Given the description of an element on the screen output the (x, y) to click on. 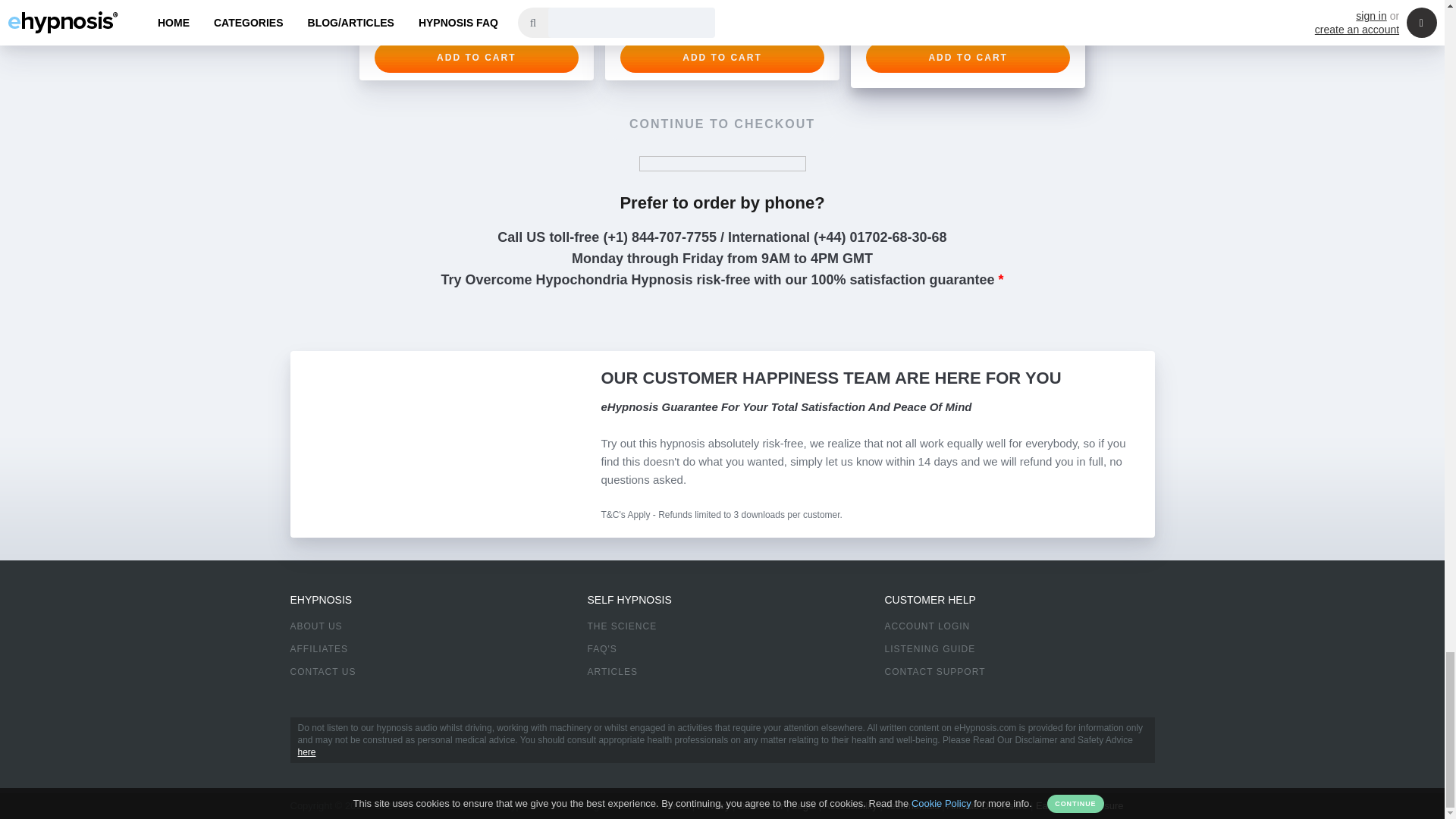
ARTICLES (611, 671)
FAQ'S (600, 648)
CONTACT SUPPORT (934, 671)
here (306, 751)
THE SCIENCE (621, 625)
continue to checkout (722, 123)
ABOUT US (315, 625)
ADD TO CART (968, 57)
continue to checkout (722, 123)
ADD TO CART (476, 57)
AFFILIATES (318, 648)
CONTACT US (322, 671)
Terms (675, 805)
LISTENING GUIDE (929, 648)
ADD TO CART (722, 57)
